Given the description of an element on the screen output the (x, y) to click on. 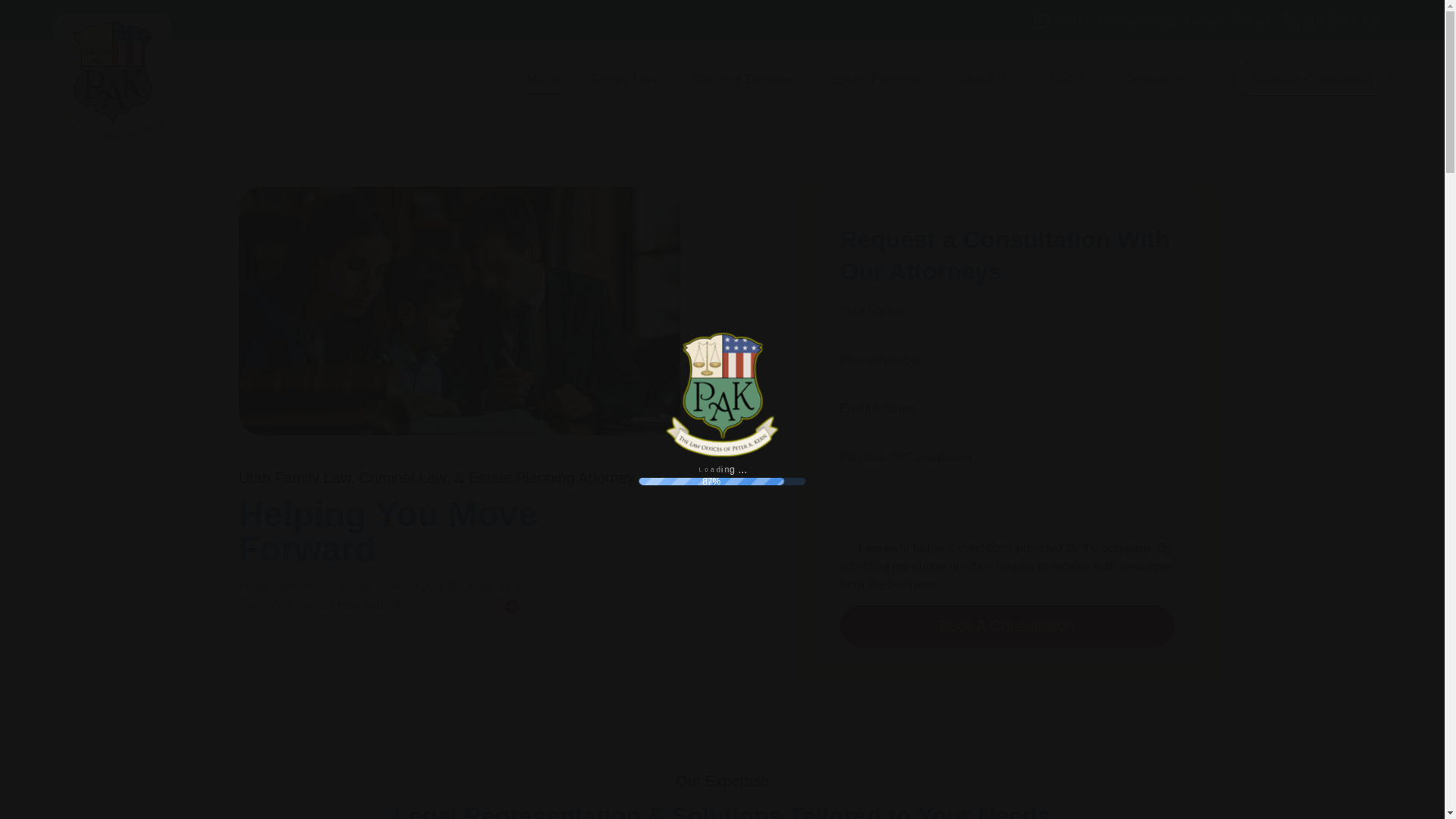
Schedule Consultation (1311, 79)
Estate Planning (876, 79)
Contact Us (1154, 79)
About Us (986, 79)
Family Law (623, 79)
FAQS (1067, 79)
Book A Consultation (1006, 626)
Home (543, 79)
Criminal Defense (743, 79)
Book A Consultation (1006, 626)
